Given the description of an element on the screen output the (x, y) to click on. 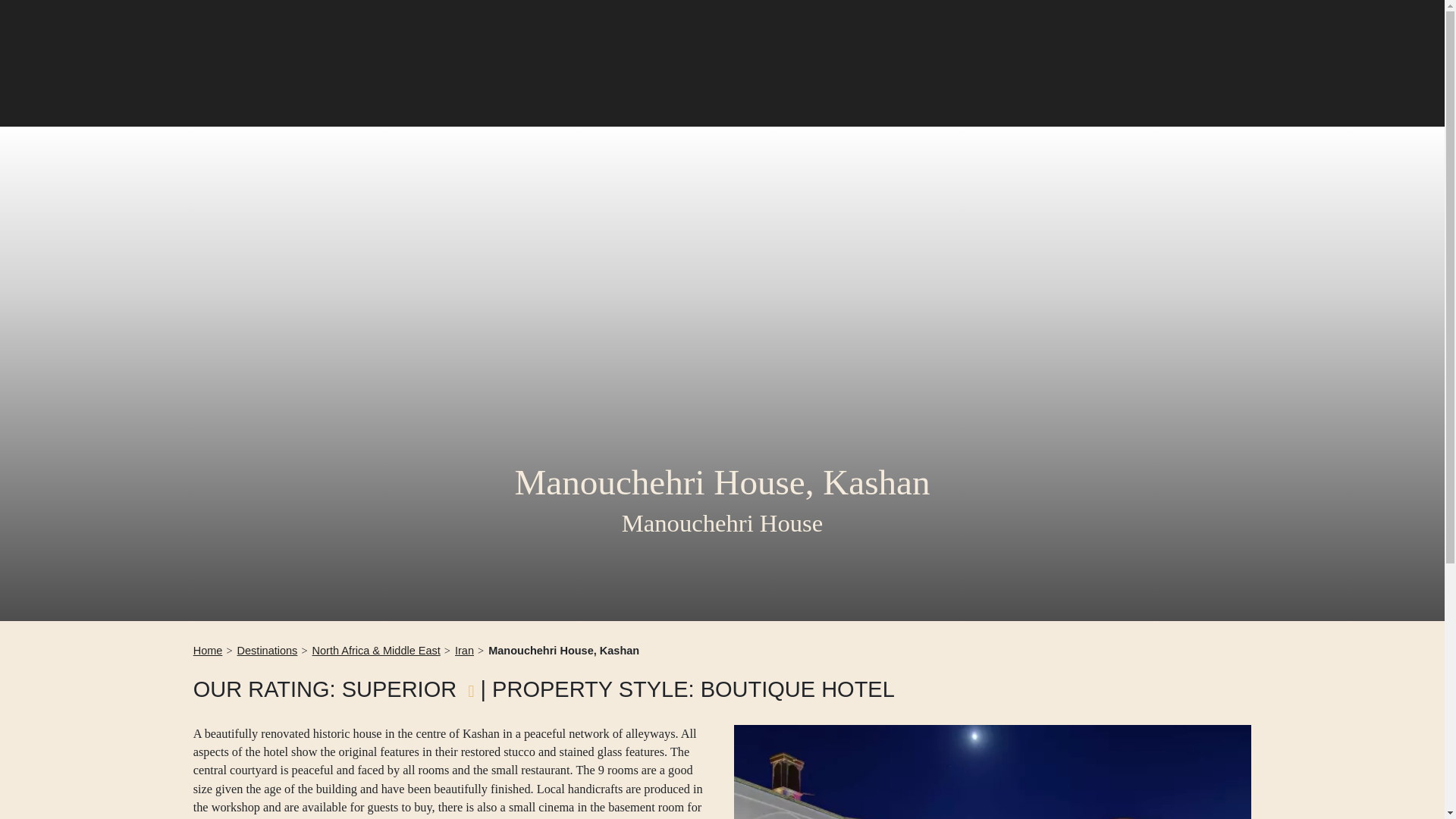
Iran (464, 651)
Home (207, 651)
Destinations (267, 651)
